Given the description of an element on the screen output the (x, y) to click on. 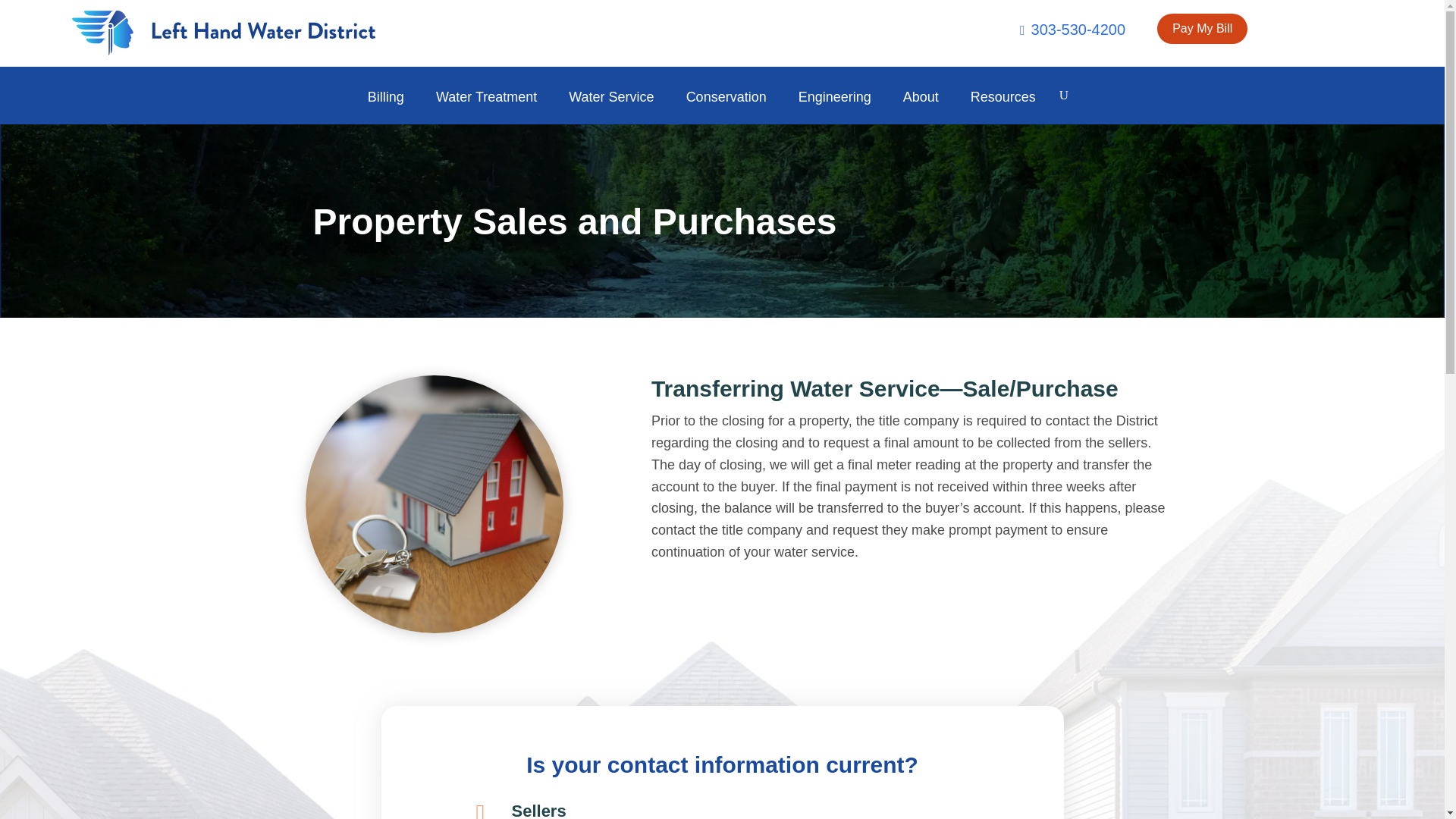
Water Service (618, 107)
Resources (1011, 107)
Water Treatment (493, 107)
303-530-4200 (1072, 45)
Conservation (733, 107)
Pay My Bill (1202, 28)
About (927, 107)
Billing (393, 107)
Engineering (841, 107)
LHWD Logo (223, 32)
Transfer Service (434, 504)
